Given the description of an element on the screen output the (x, y) to click on. 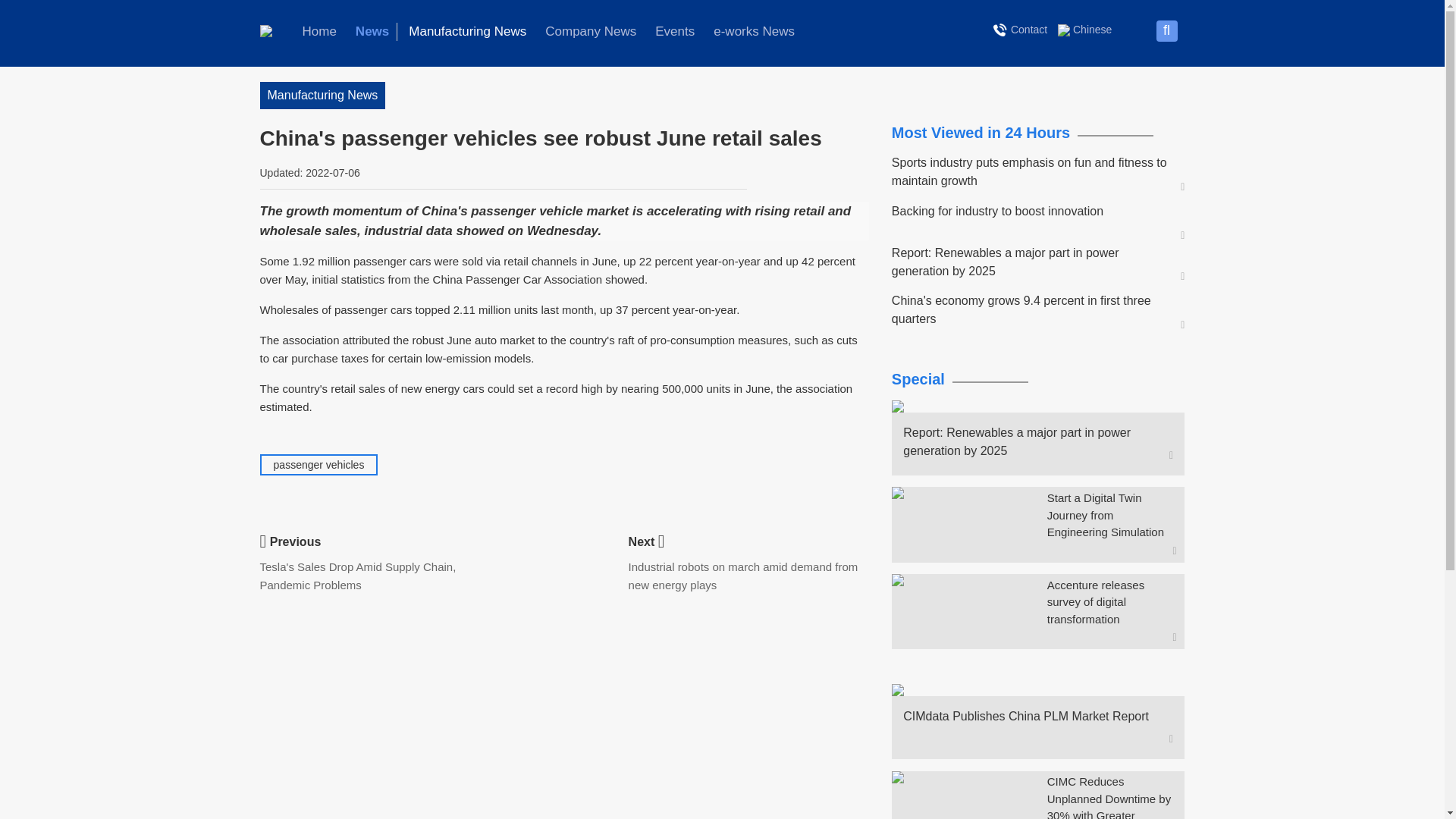
Events (674, 31)
Start a Digital Twin Journey from Engineering Simulation (1111, 515)
Contact (1020, 29)
Backing for industry to boost innovation (1030, 211)
e-works News (754, 31)
CIMdata Publishes China PLM Market Report (1030, 716)
Report: Renewables a major part in power generation by 2025 (1030, 262)
Home (318, 31)
Industrial robots on march amid demand from new energy plays (743, 575)
Accenture releases survey of digital transformation (1111, 602)
